Given the description of an element on the screen output the (x, y) to click on. 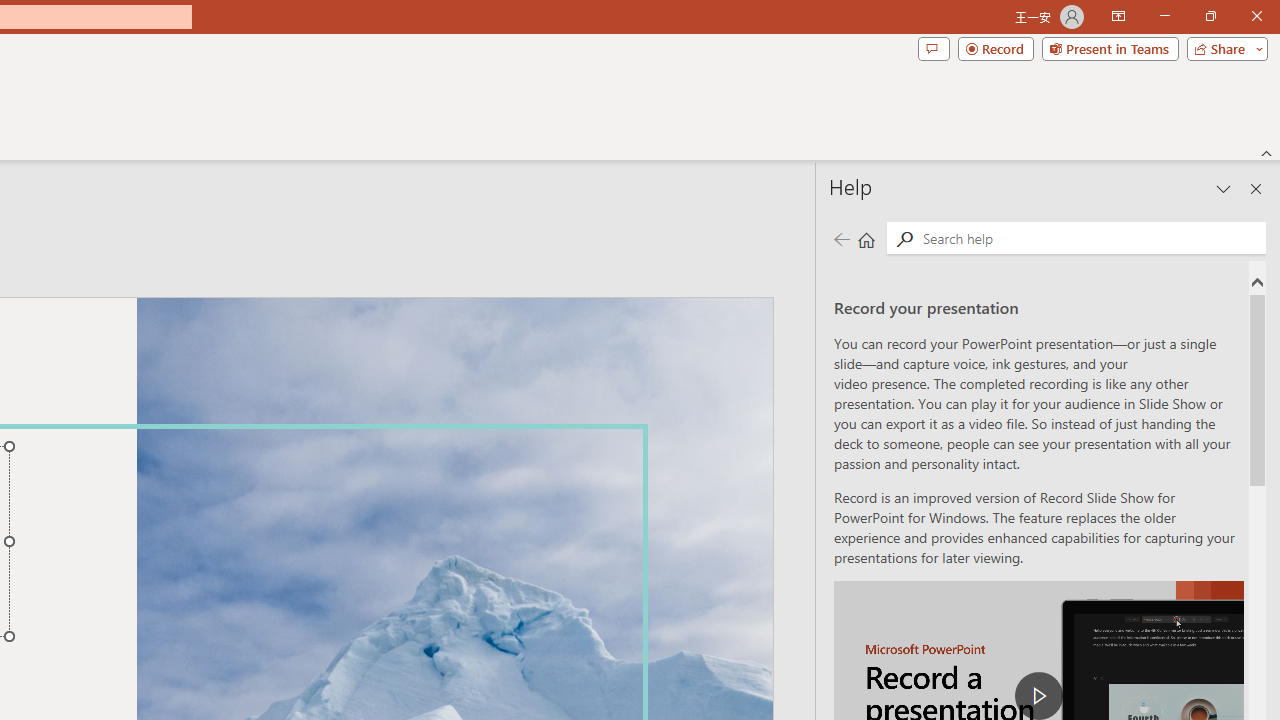
Previous page (841, 238)
